Given the description of an element on the screen output the (x, y) to click on. 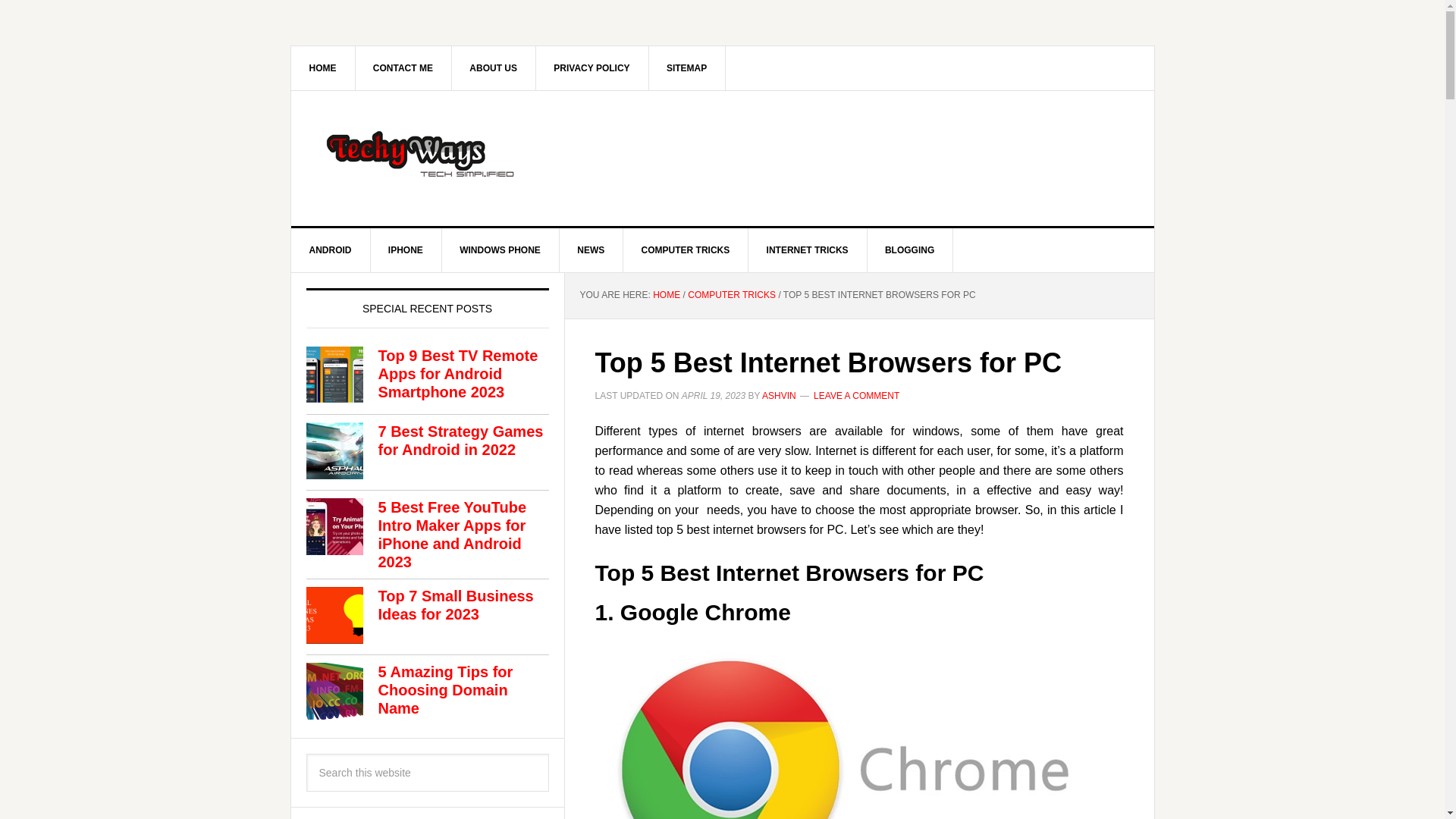
INTERNET TRICKS (807, 249)
PRIVACY POLICY (591, 67)
Advertisement (848, 155)
BLOGGING (909, 249)
IPHONE (405, 249)
WINDOWS PHONE (500, 249)
HOME (665, 294)
COMPUTER TRICKS (731, 294)
TECHY WAYS (419, 155)
LEAVE A COMMENT (856, 394)
CONTACT ME (403, 67)
google chrome best internet browser (858, 728)
ANDROID (331, 249)
